Given the description of an element on the screen output the (x, y) to click on. 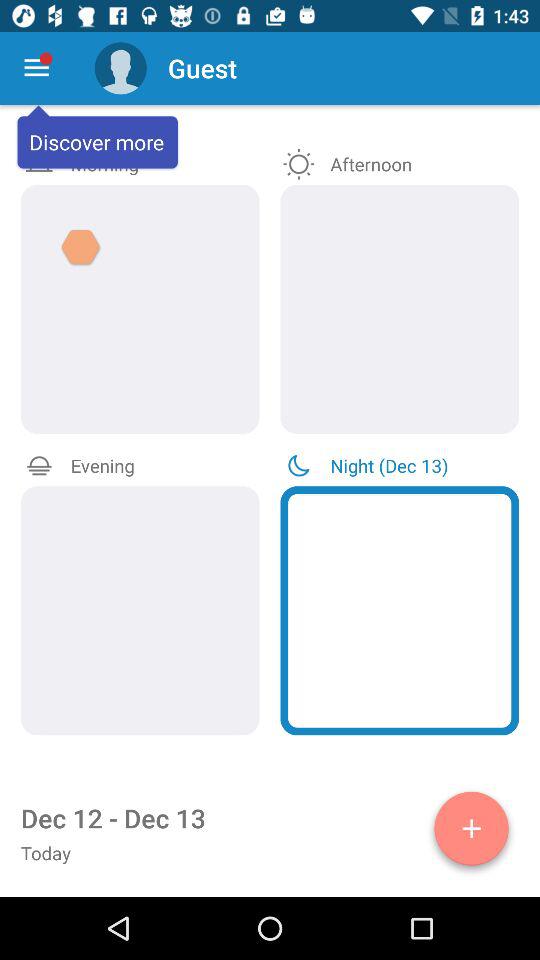
evning (140, 610)
